Given the description of an element on the screen output the (x, y) to click on. 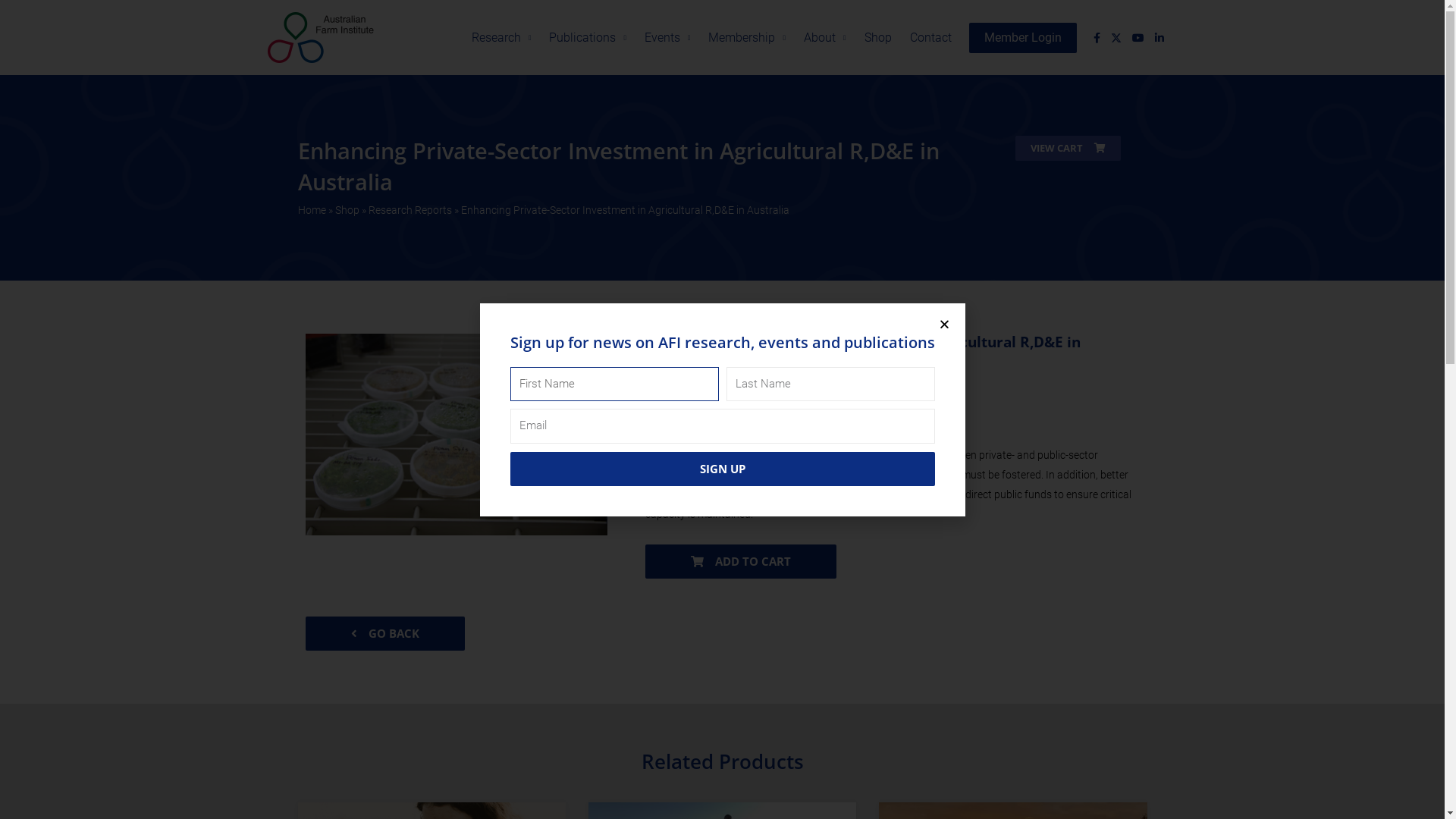
Member Login Element type: text (1022, 37)
Research Reports Element type: text (409, 209)
ADD TO CART Element type: text (739, 561)
Events Element type: text (667, 37)
Shop Element type: text (347, 209)
Publications Element type: text (587, 37)
Shop Element type: text (877, 37)
Home Element type: text (311, 209)
Research Element type: text (501, 37)
VIEW CART Element type: text (1067, 147)
United Soybean Board_research13 Element type: hover (455, 433)
About Element type: text (824, 37)
Membership Element type: text (746, 37)
SIGN UP Element type: text (721, 468)
Contact Element type: text (930, 37)
GO BACK Element type: text (384, 633)
